Given the description of an element on the screen output the (x, y) to click on. 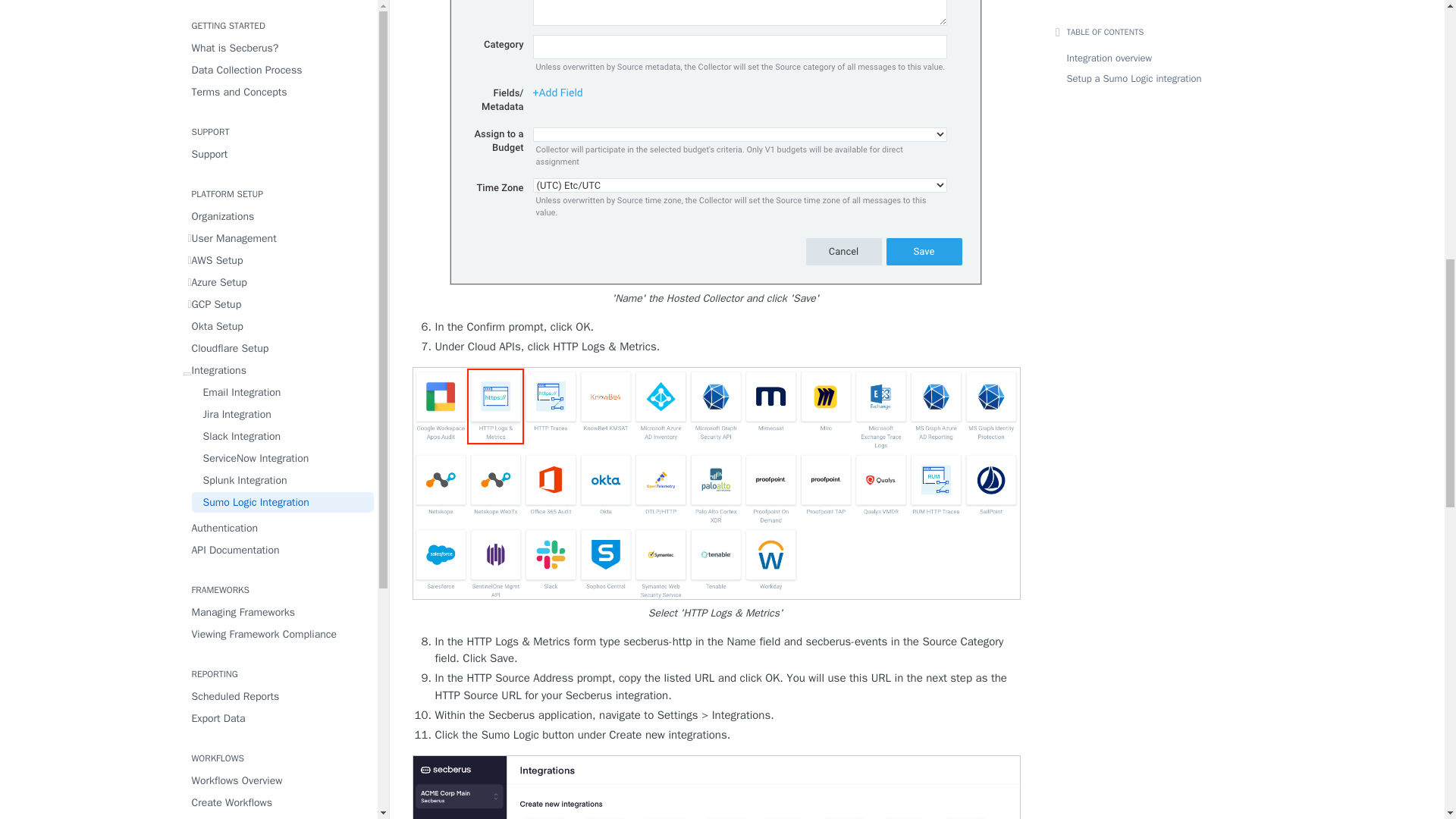
secberus integrations.png (716, 787)
